Given the description of an element on the screen output the (x, y) to click on. 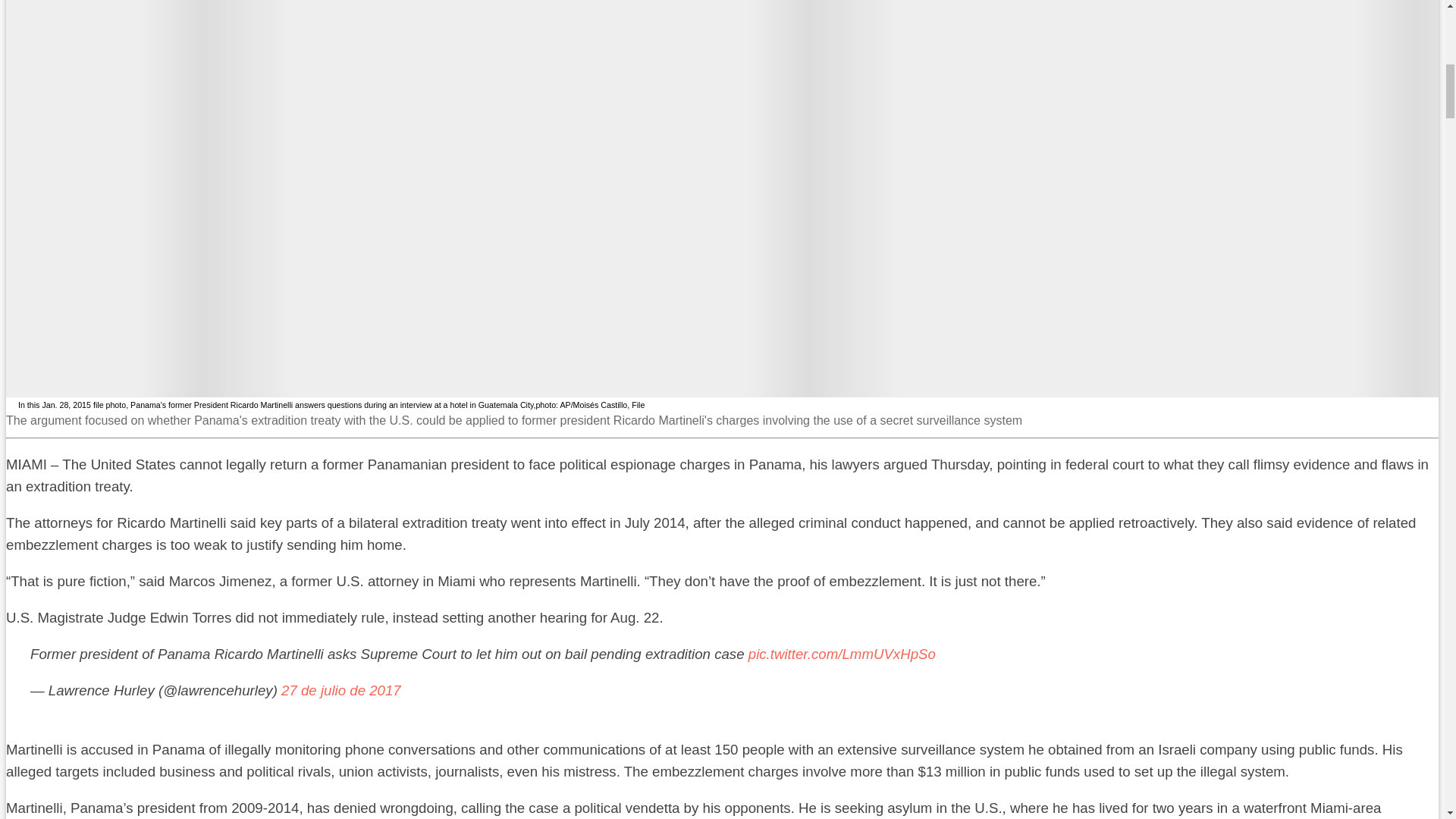
27 de julio de 2017 (341, 690)
